Given the description of an element on the screen output the (x, y) to click on. 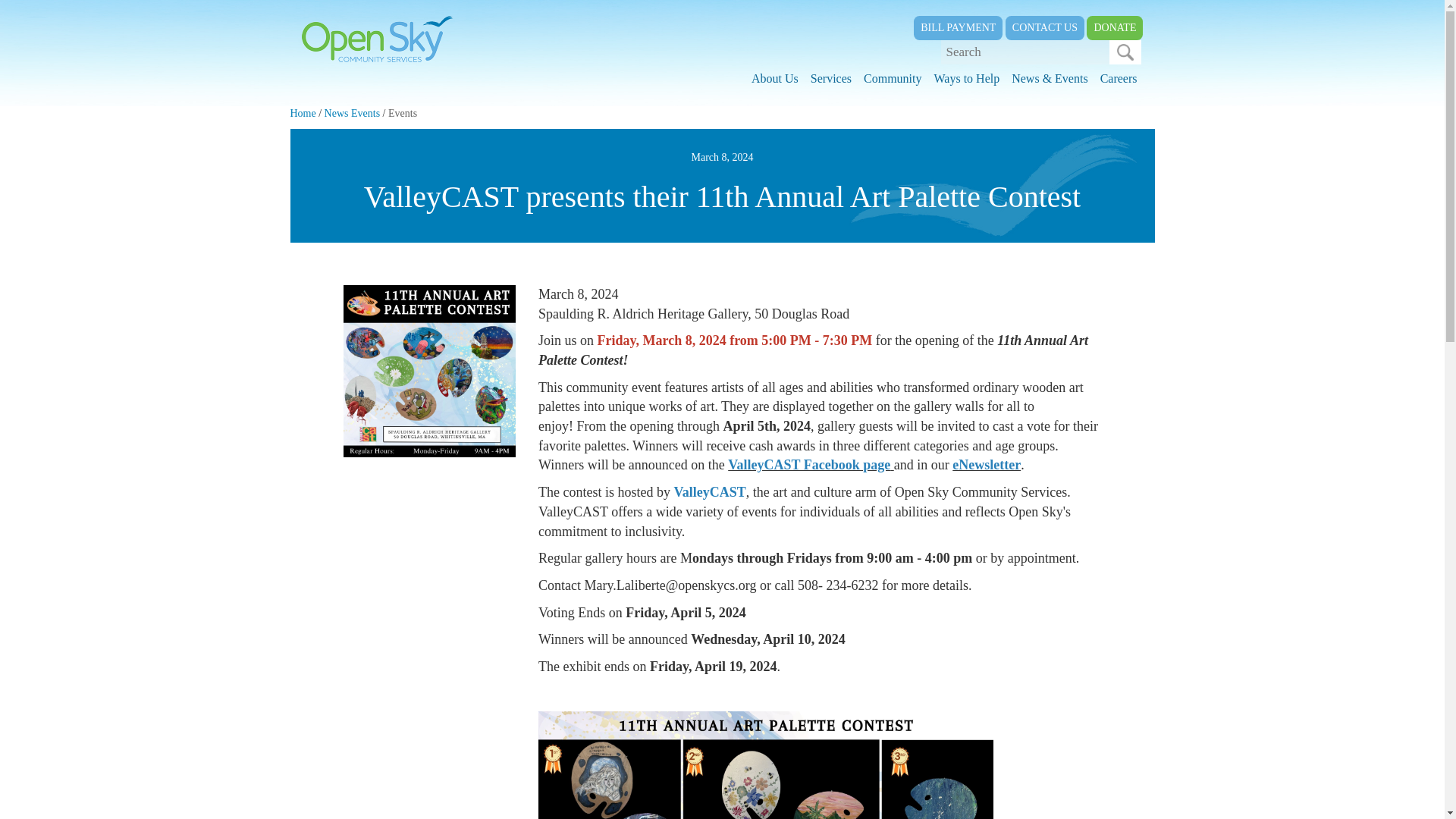
About Us (775, 79)
Services (831, 79)
DONATE (1114, 27)
BILL PAYMENT (958, 27)
CONTACT US (1045, 27)
